Given the description of an element on the screen output the (x, y) to click on. 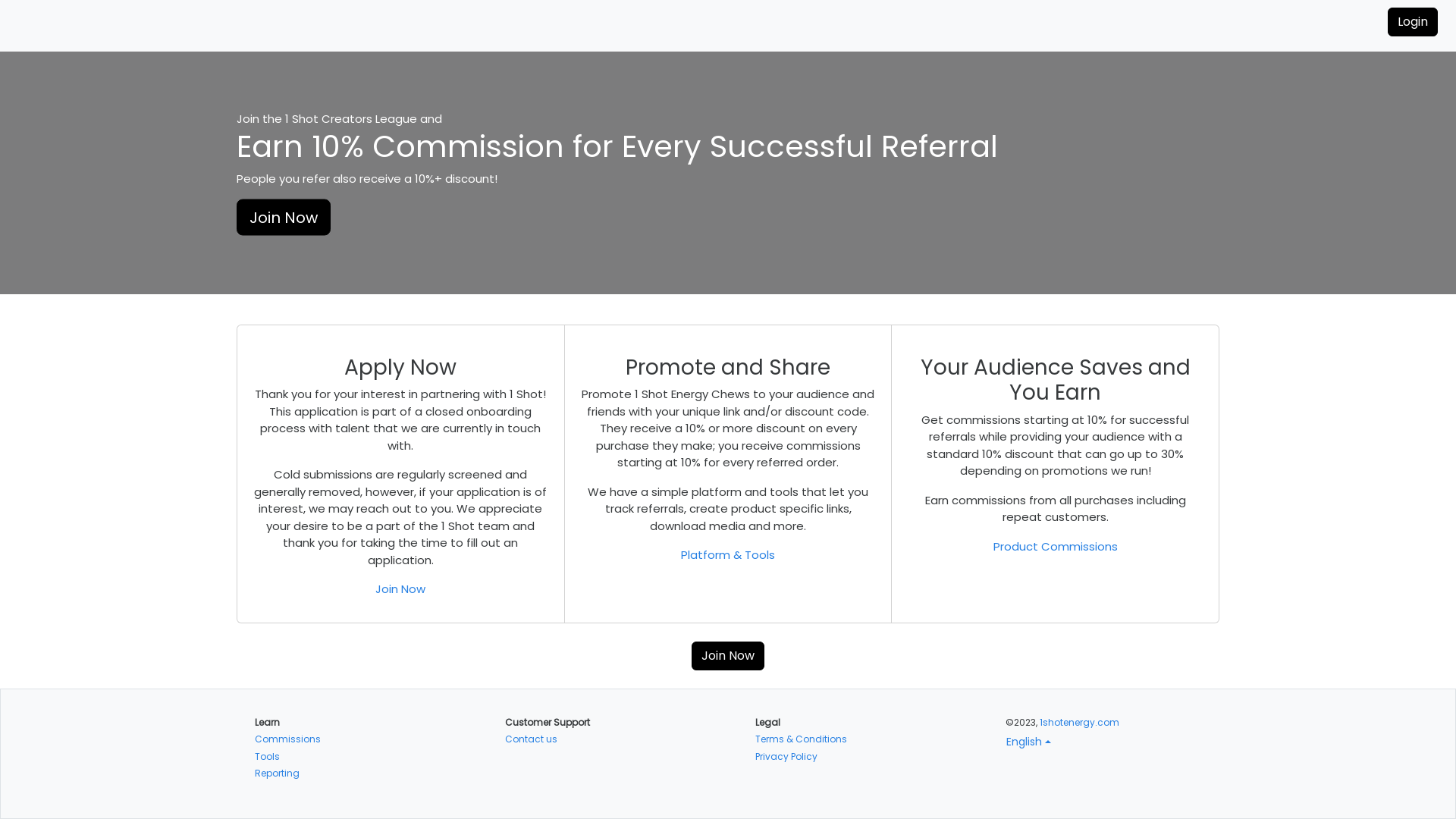
Platform & Tools Element type: text (728, 554)
Contact us Element type: text (526, 704)
Join Now Element type: text (399, 554)
Join Now Element type: text (727, 621)
Tools Element type: text (265, 722)
Terms & Conditions Element type: text (794, 704)
Join Now Element type: text (280, 216)
Login Element type: text (1412, 21)
1shotenergy.com Element type: text (1079, 721)
Reporting Element type: text (274, 739)
Privacy Policy Element type: text (783, 723)
English Element type: text (1028, 741)
Product Commissions Element type: text (1055, 528)
Commissions Element type: text (281, 704)
